Given the description of an element on the screen output the (x, y) to click on. 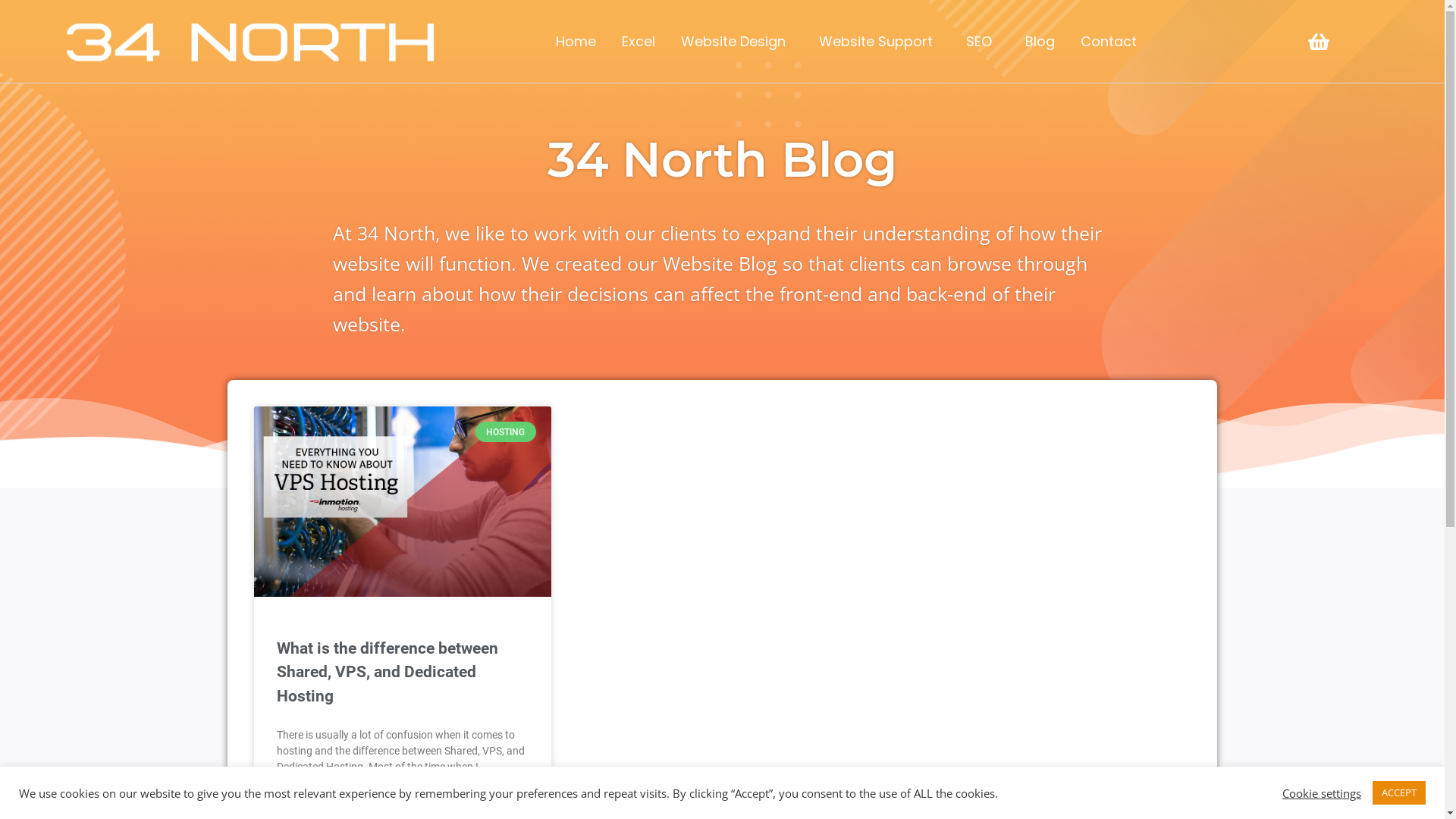
Contact Element type: text (1112, 41)
Home Element type: text (575, 41)
Excel Element type: text (638, 41)
Website Design Element type: text (737, 41)
Website Support Element type: text (879, 41)
Blog Element type: text (1039, 41)
Cookie settings Element type: text (1321, 792)
SEO Element type: text (982, 41)
ACCEPT Element type: text (1398, 792)
